Given the description of an element on the screen output the (x, y) to click on. 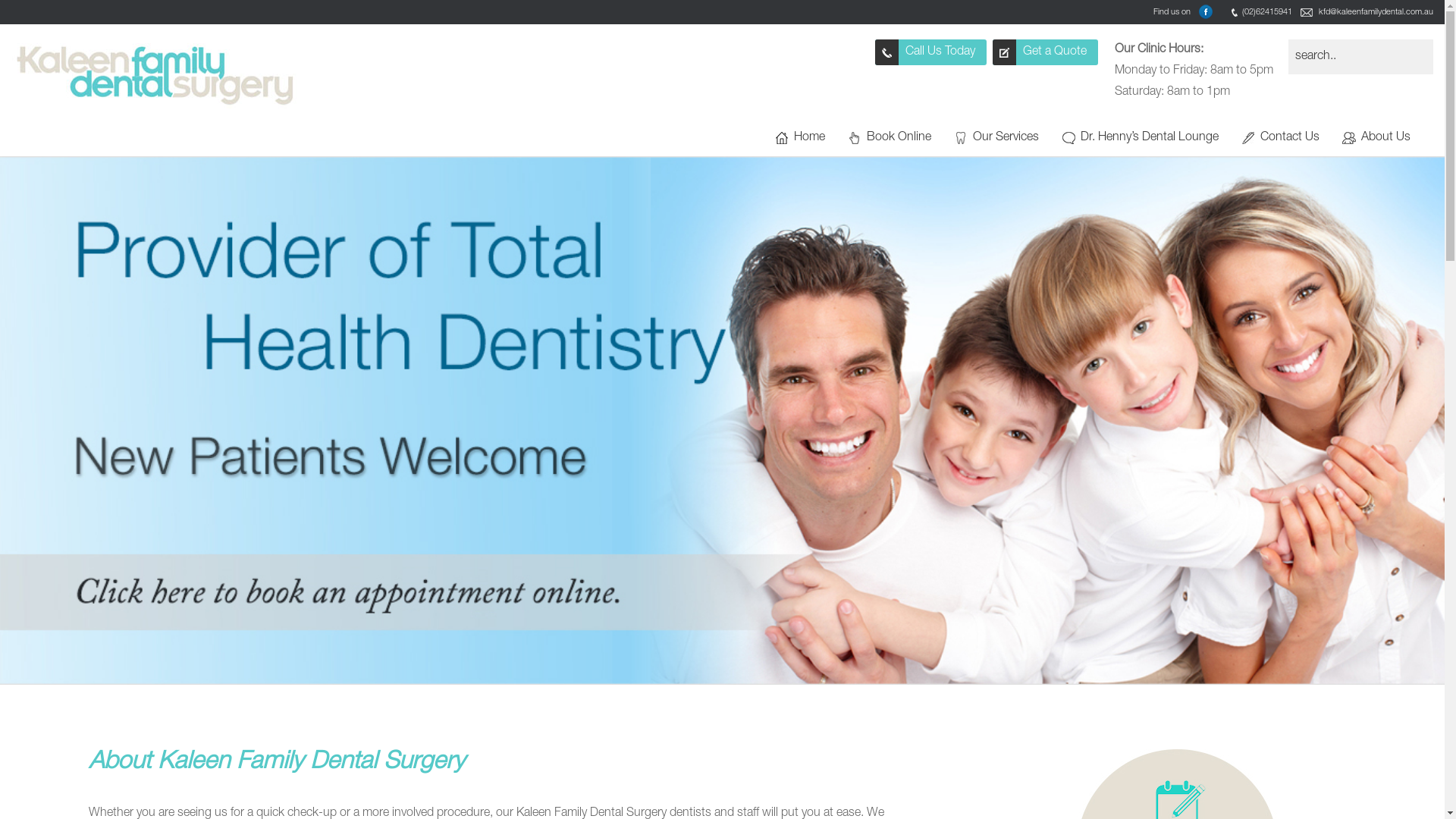
Visit Us On Facebook Element type: hover (1204, 12)
Our Services Element type: text (1005, 137)
Book Online Element type: text (898, 137)
Call Us Today Element type: text (930, 52)
About Us Element type: text (1385, 137)
Get a Quote Element type: text (1045, 52)
Contact Us Element type: text (1289, 137)
Home Element type: text (809, 137)
